Given the description of an element on the screen output the (x, y) to click on. 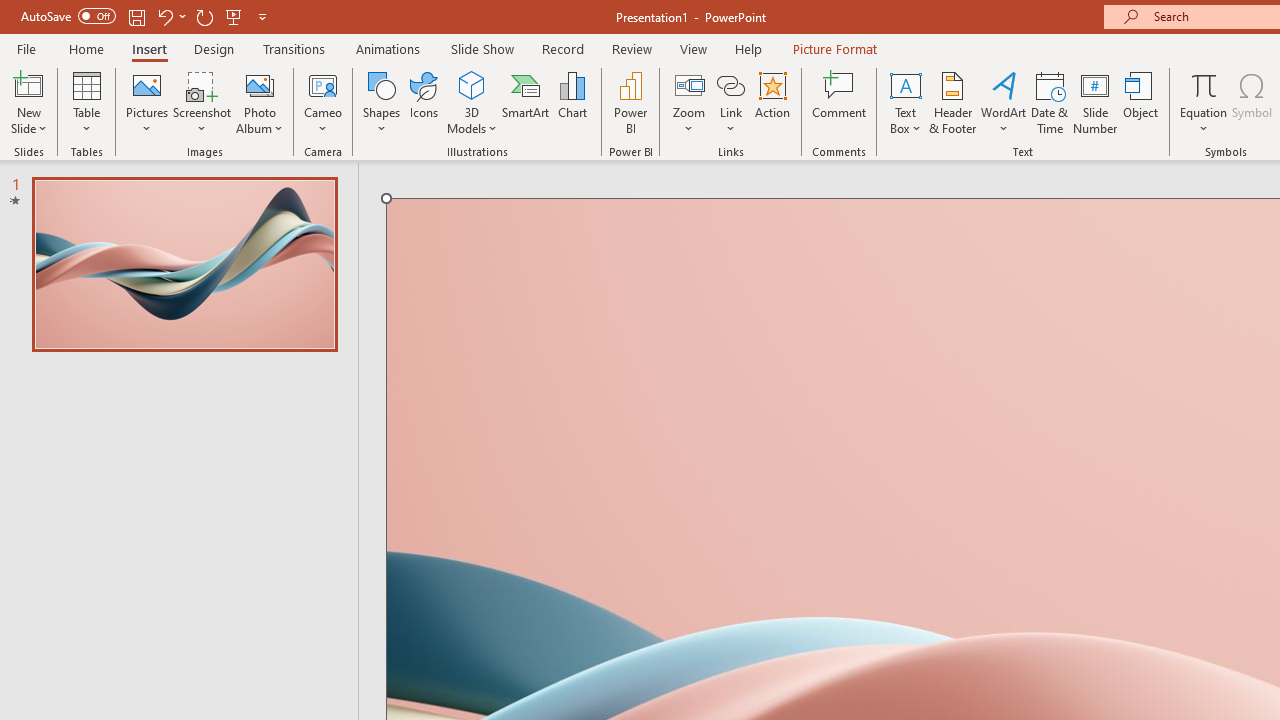
Photo Album... (259, 102)
Comment (839, 102)
Header & Footer... (952, 102)
Object... (1141, 102)
Picture Format (834, 48)
WordArt (1004, 102)
Draw Horizontal Text Box (905, 84)
